Given the description of an element on the screen output the (x, y) to click on. 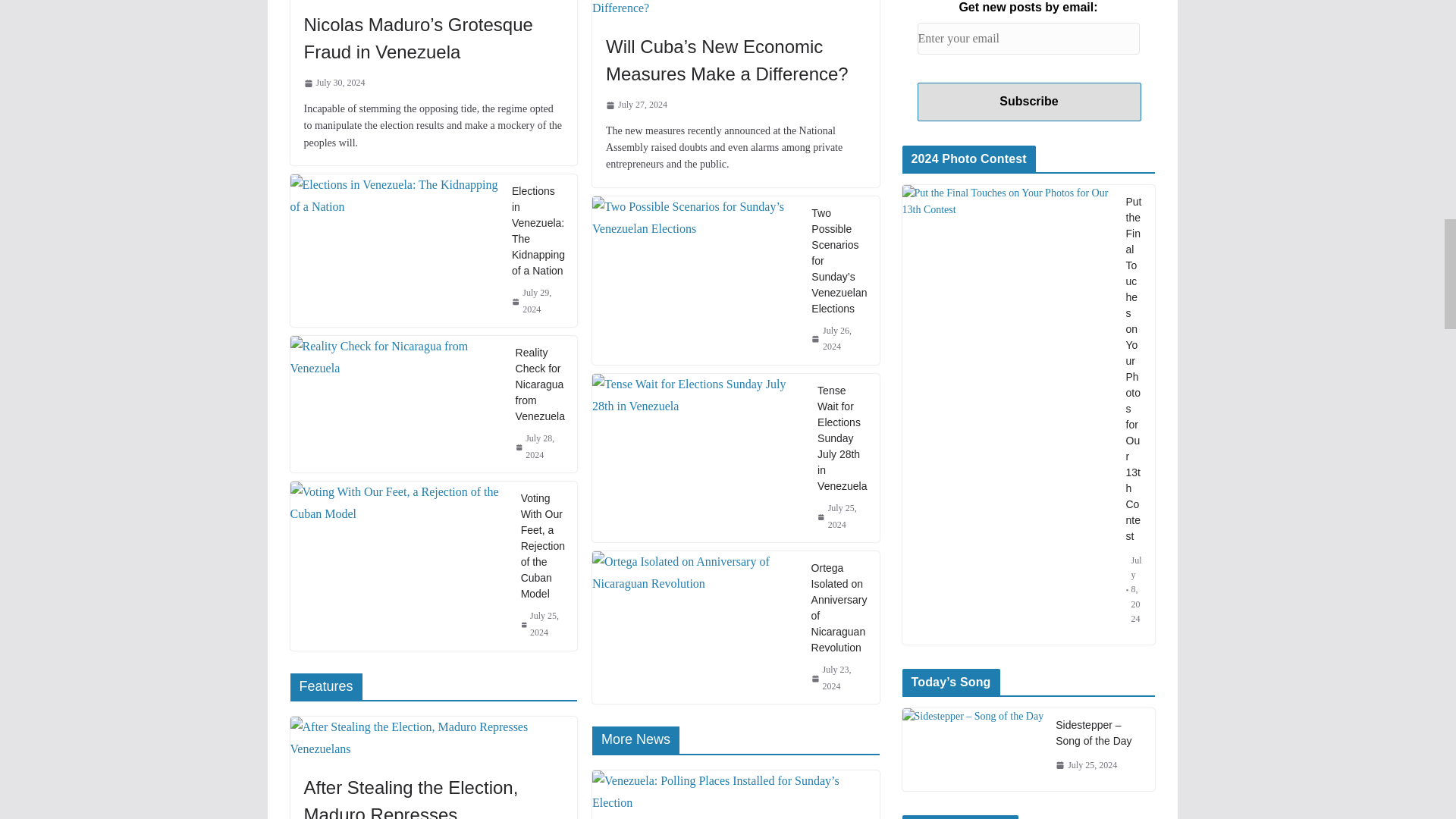
Subscribe (1029, 101)
